Given the description of an element on the screen output the (x, y) to click on. 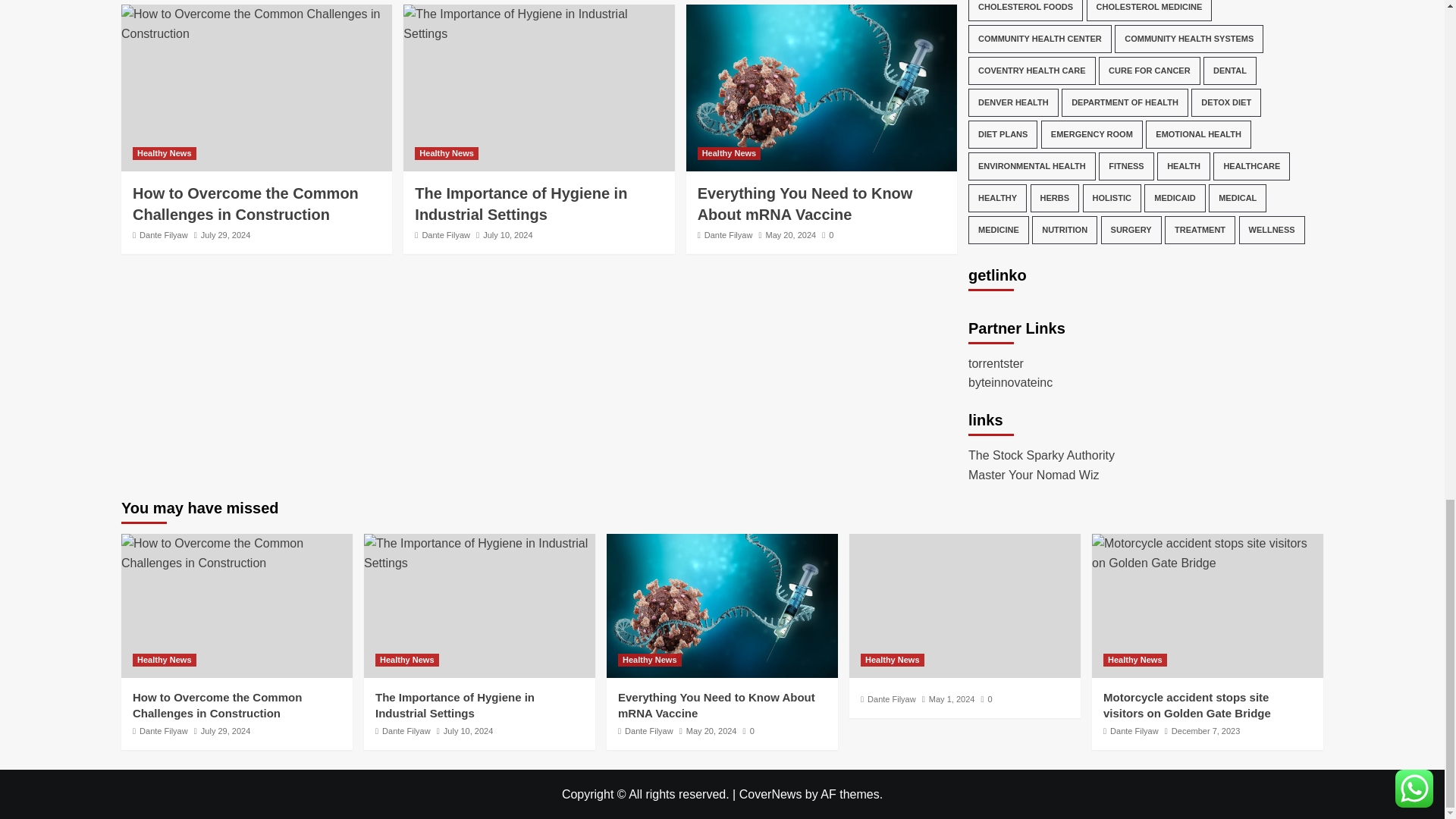
The Importance of Hygiene in Industrial Settings (538, 23)
The Importance of Hygiene in Industrial Settings (479, 552)
How to Overcome the Common Challenges in Construction (236, 552)
How to Overcome the Common Challenges in Construction (255, 23)
